Given the description of an element on the screen output the (x, y) to click on. 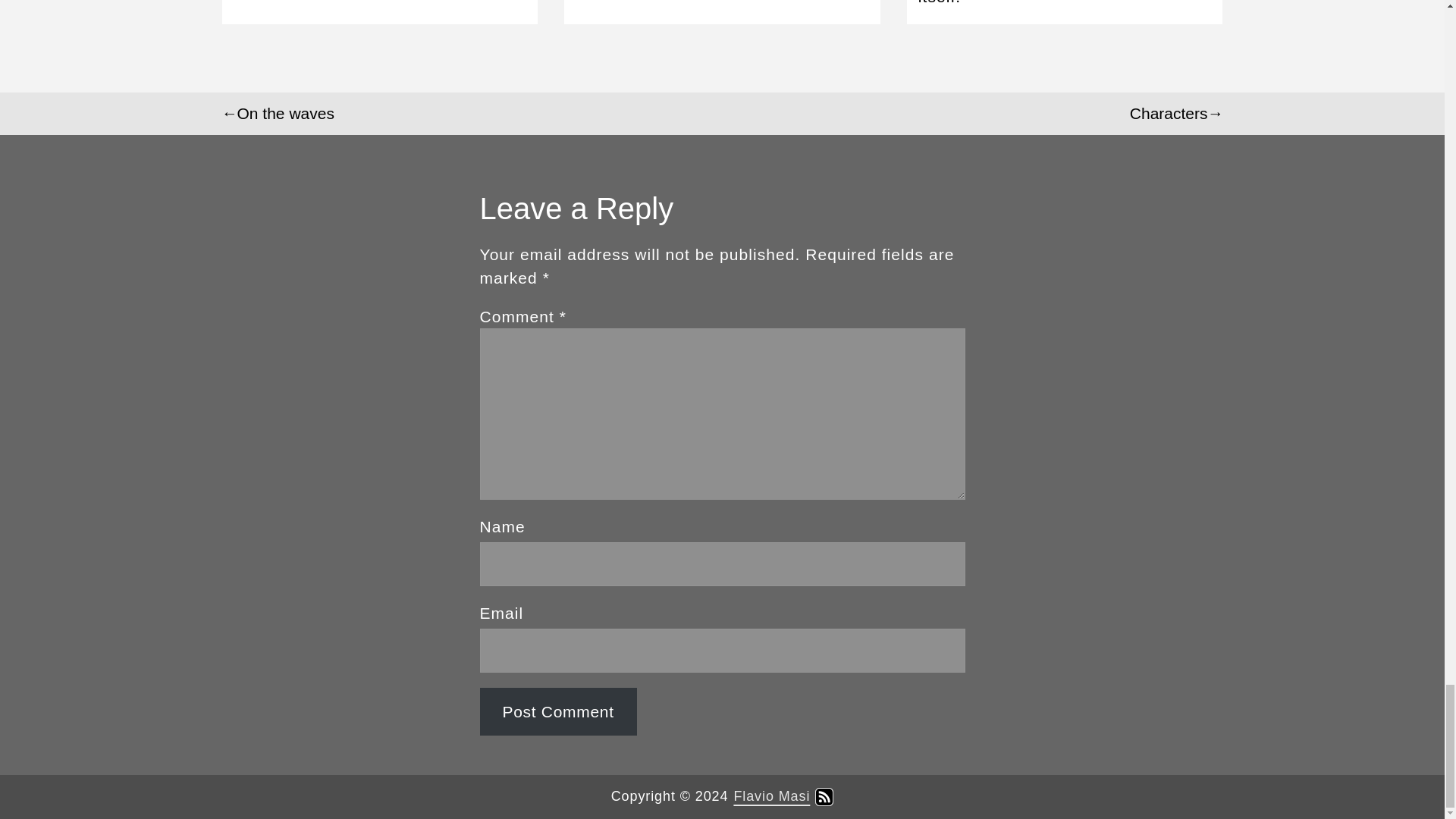
Post Comment (557, 711)
Syndicate this site using RSS (823, 796)
